Given the description of an element on the screen output the (x, y) to click on. 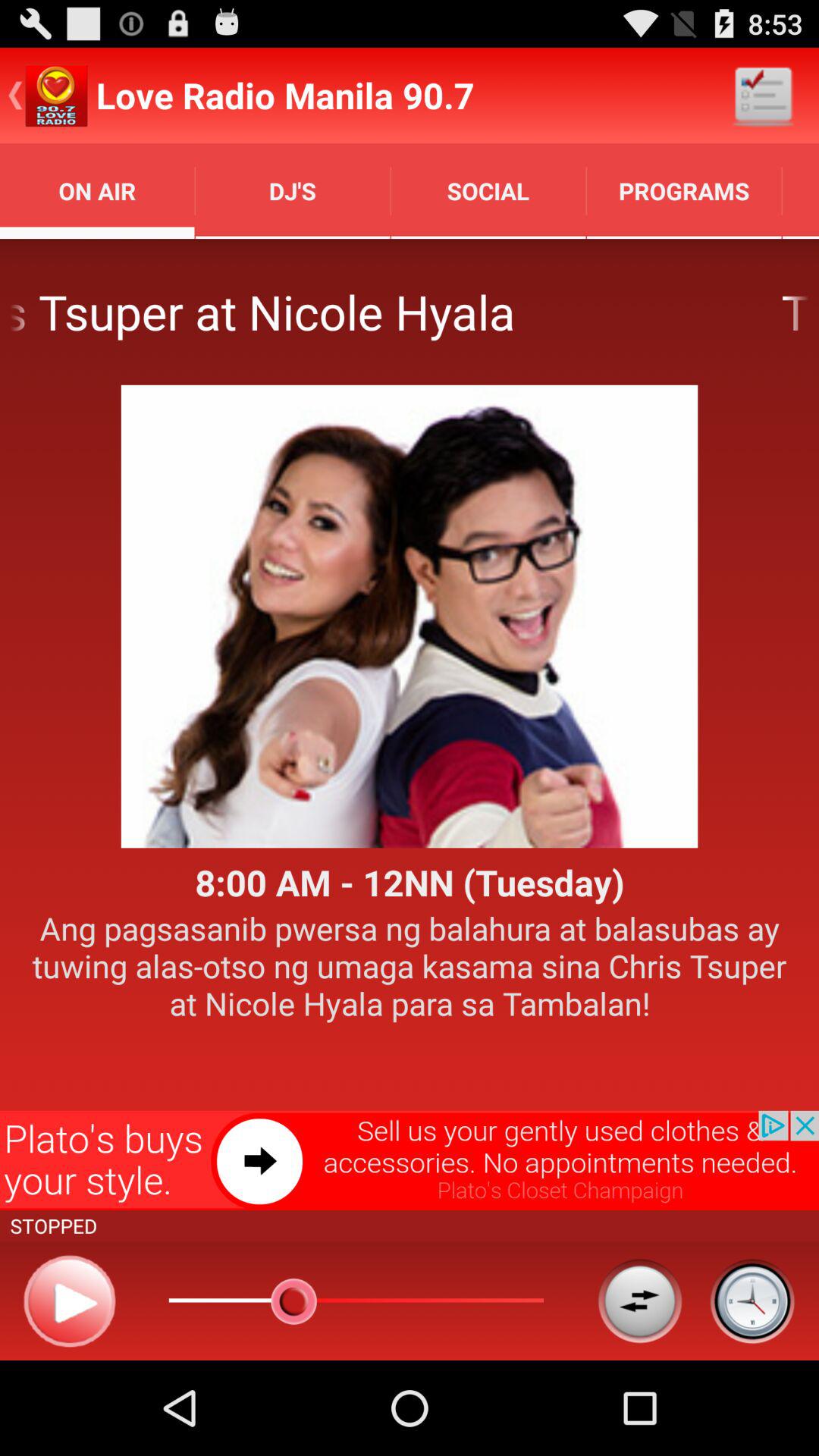
open advertisement (409, 1160)
